Given the description of an element on the screen output the (x, y) to click on. 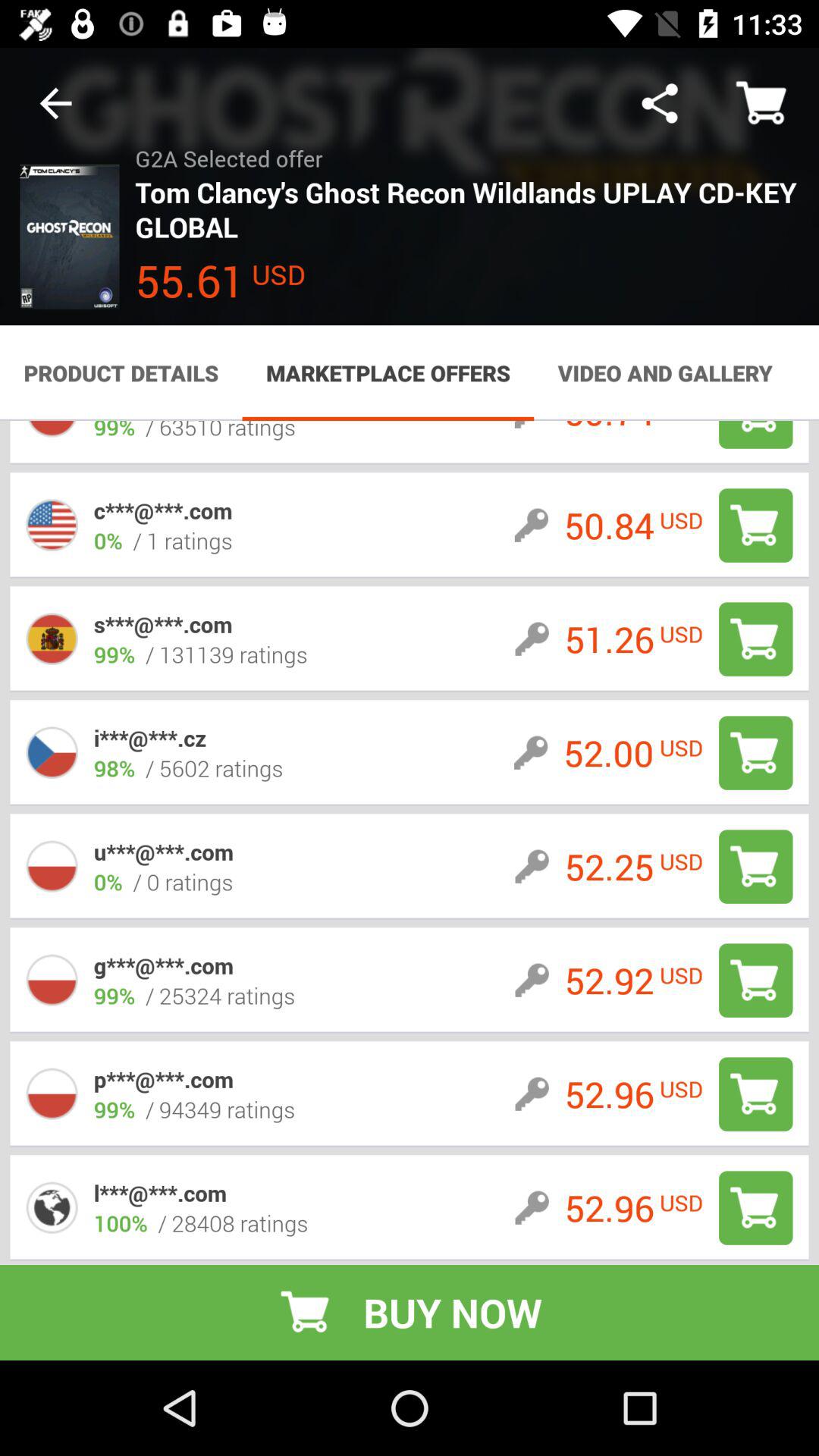
click the item to the left of g2a selected offer icon (55, 103)
